Given the description of an element on the screen output the (x, y) to click on. 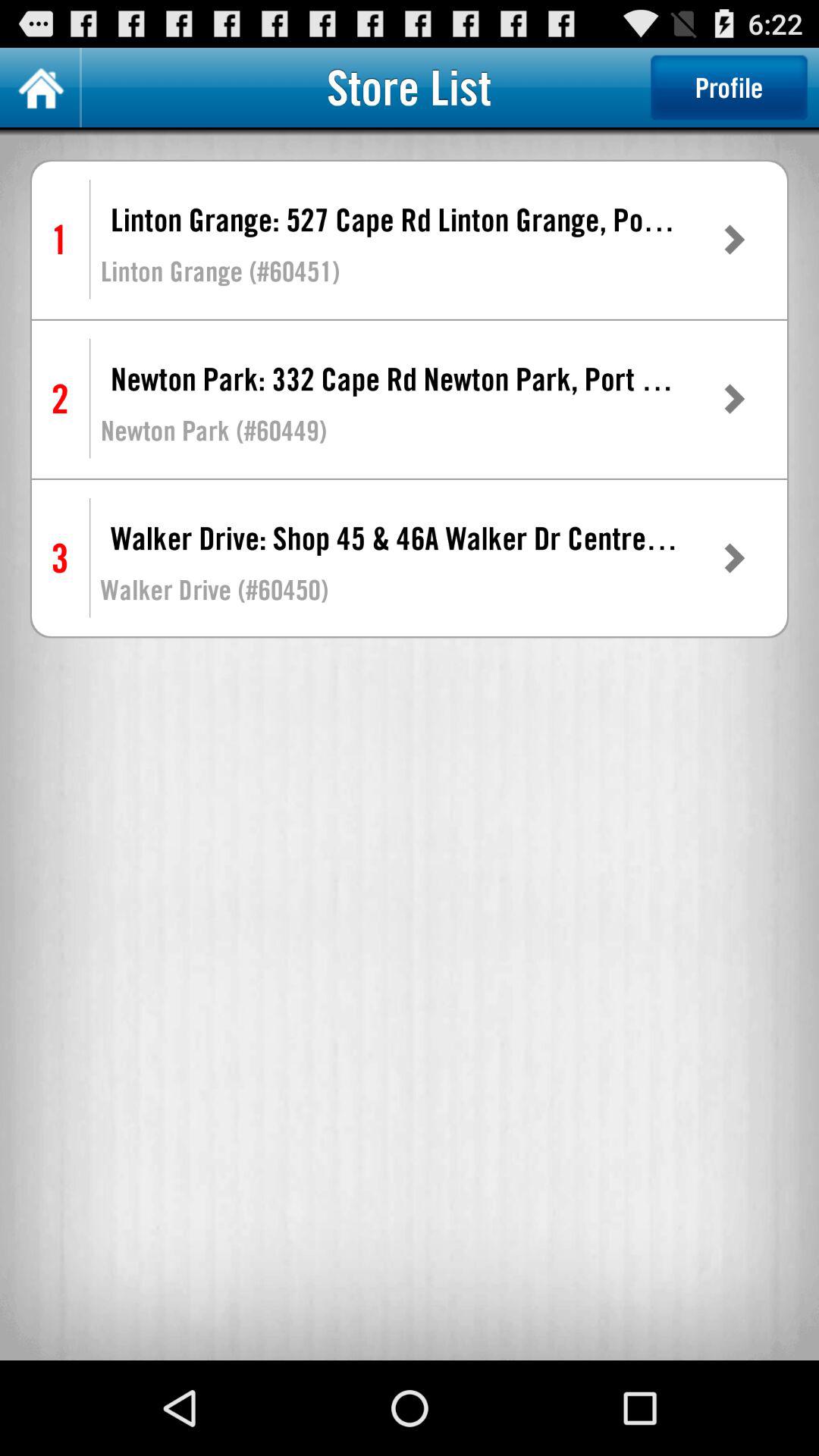
click app next to the newton park 332 icon (733, 398)
